Given the description of an element on the screen output the (x, y) to click on. 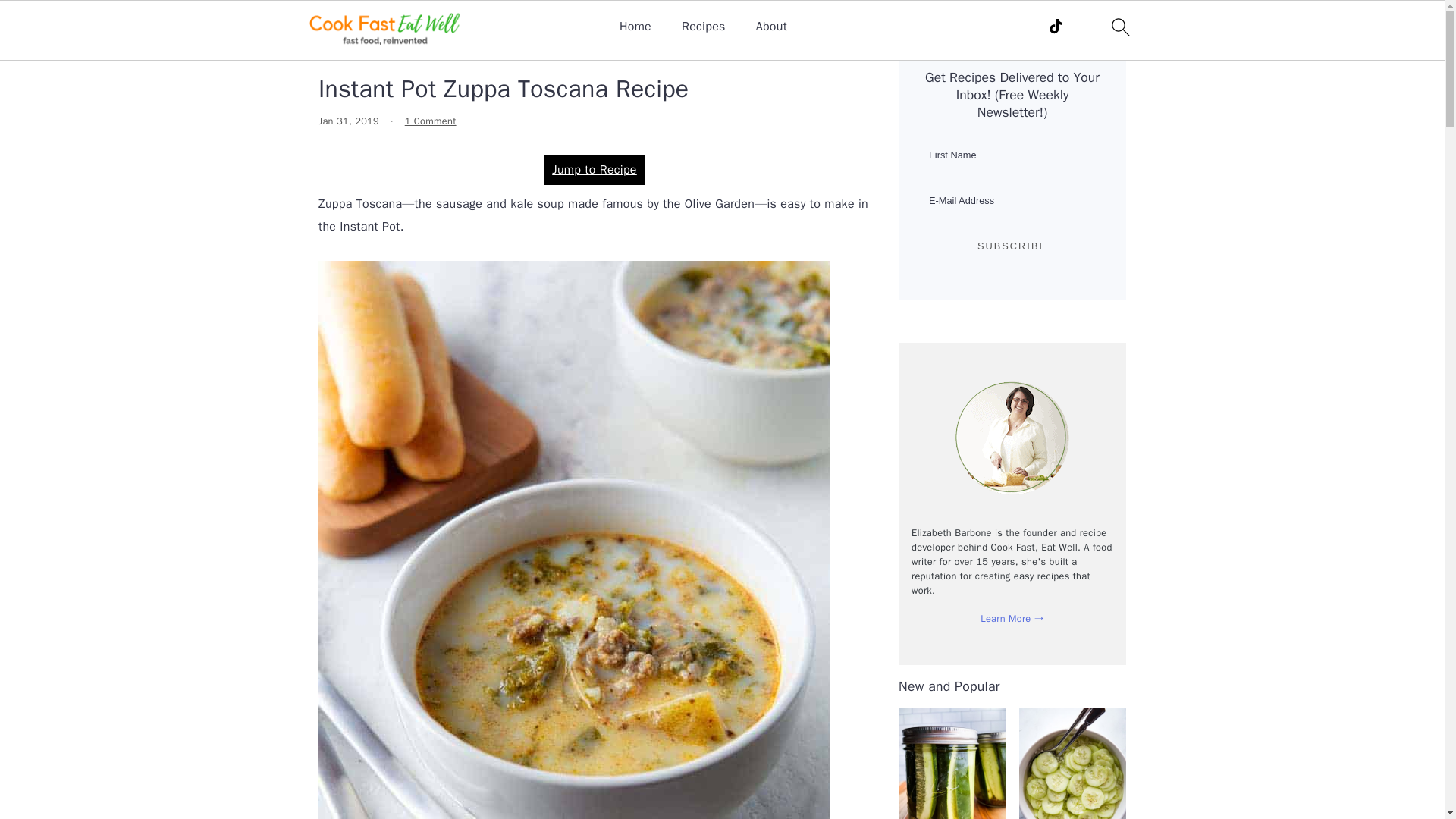
Home (635, 26)
Jump to Recipe (594, 169)
Recipes (703, 26)
search icon (1119, 26)
Home (334, 50)
About (771, 26)
Subscribe (1011, 247)
Subscribe (1011, 247)
1 Comment (430, 121)
